Given the description of an element on the screen output the (x, y) to click on. 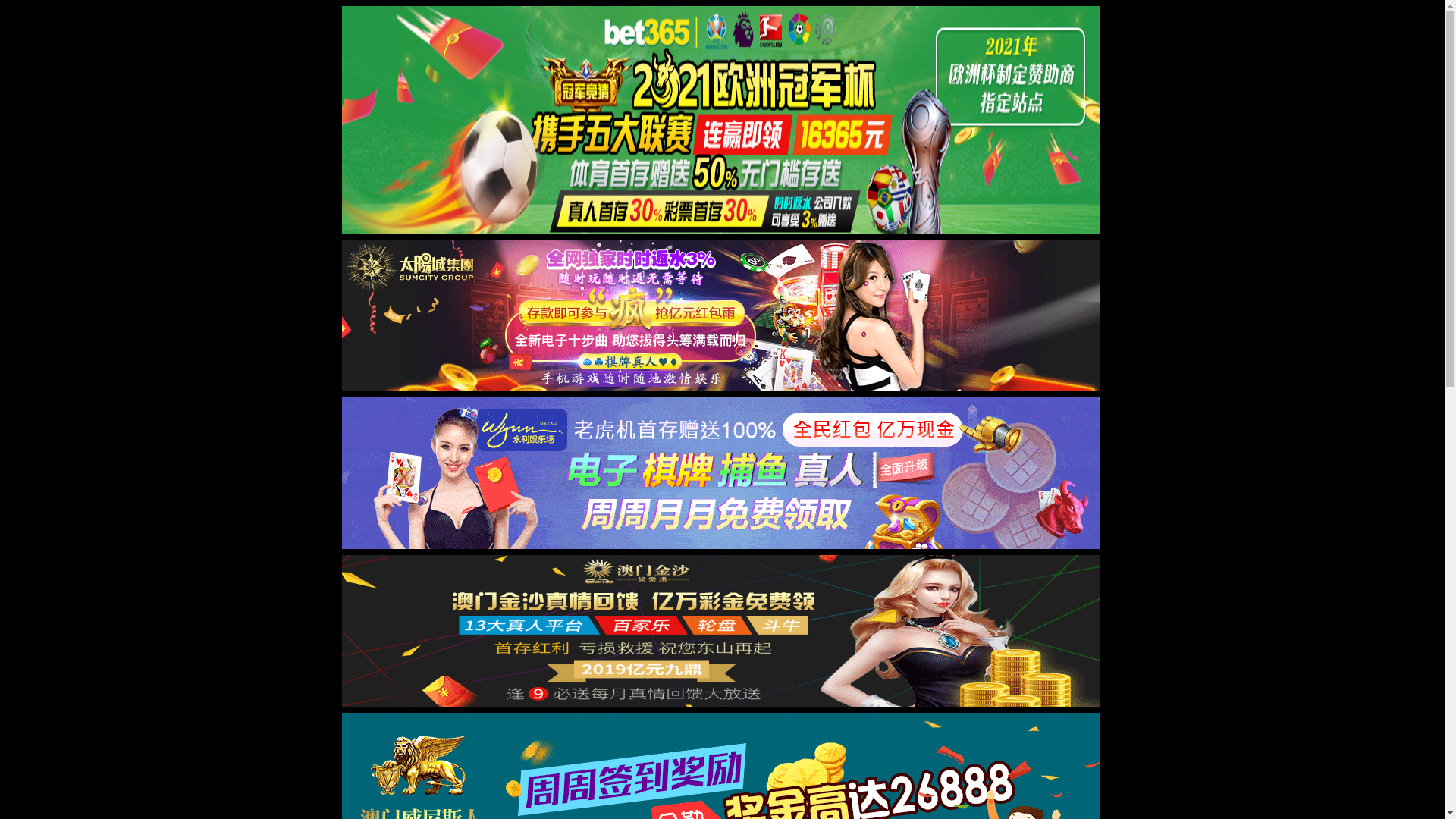
English Element type: text (726, 39)
